Given the description of an element on the screen output the (x, y) to click on. 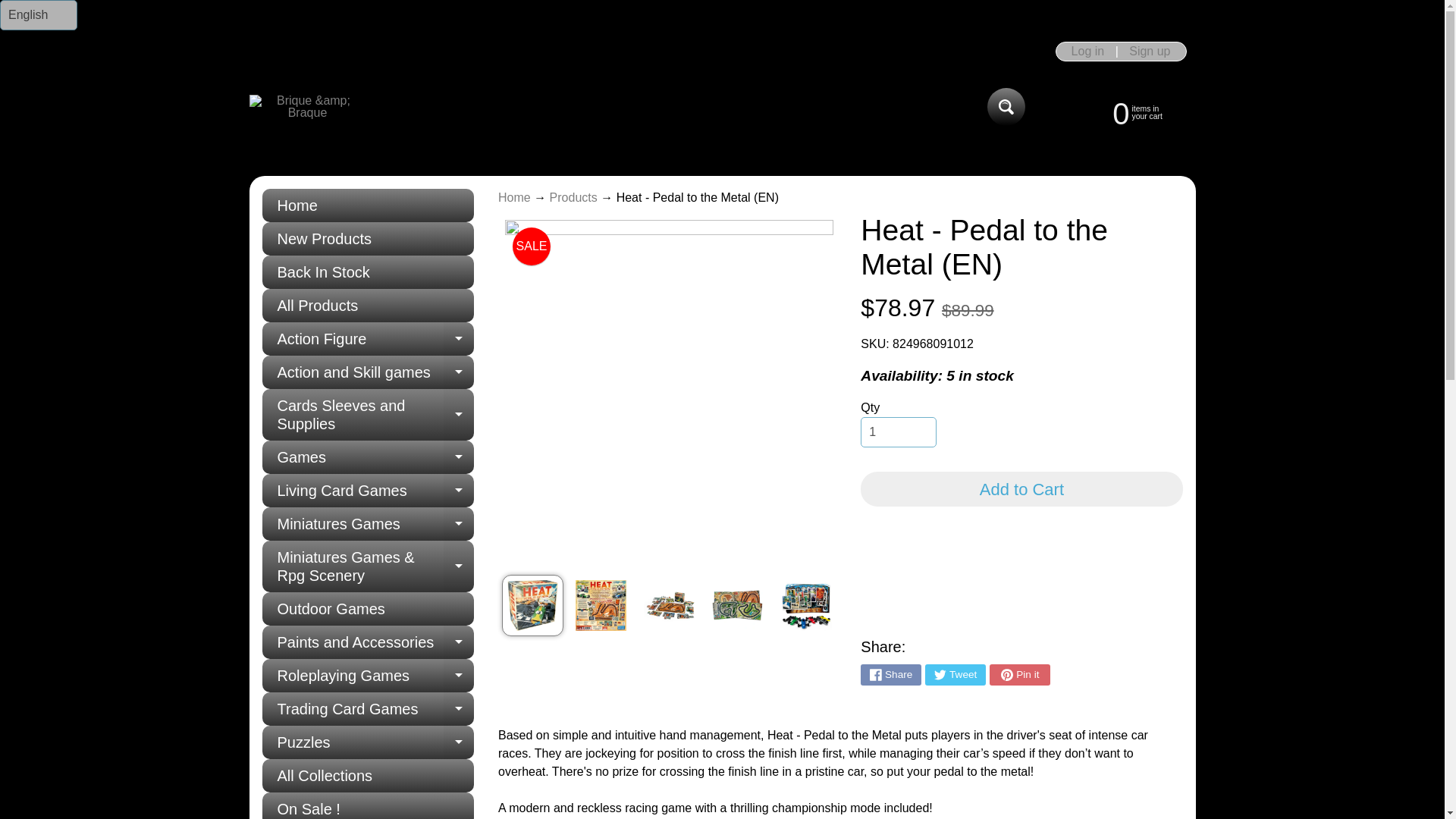
Expand child menu (459, 338)
Skip to content (99, 8)
Log in (368, 414)
Home (1122, 111)
Back to the home page (368, 372)
Pin on Pinterest (1088, 51)
